Given the description of an element on the screen output the (x, y) to click on. 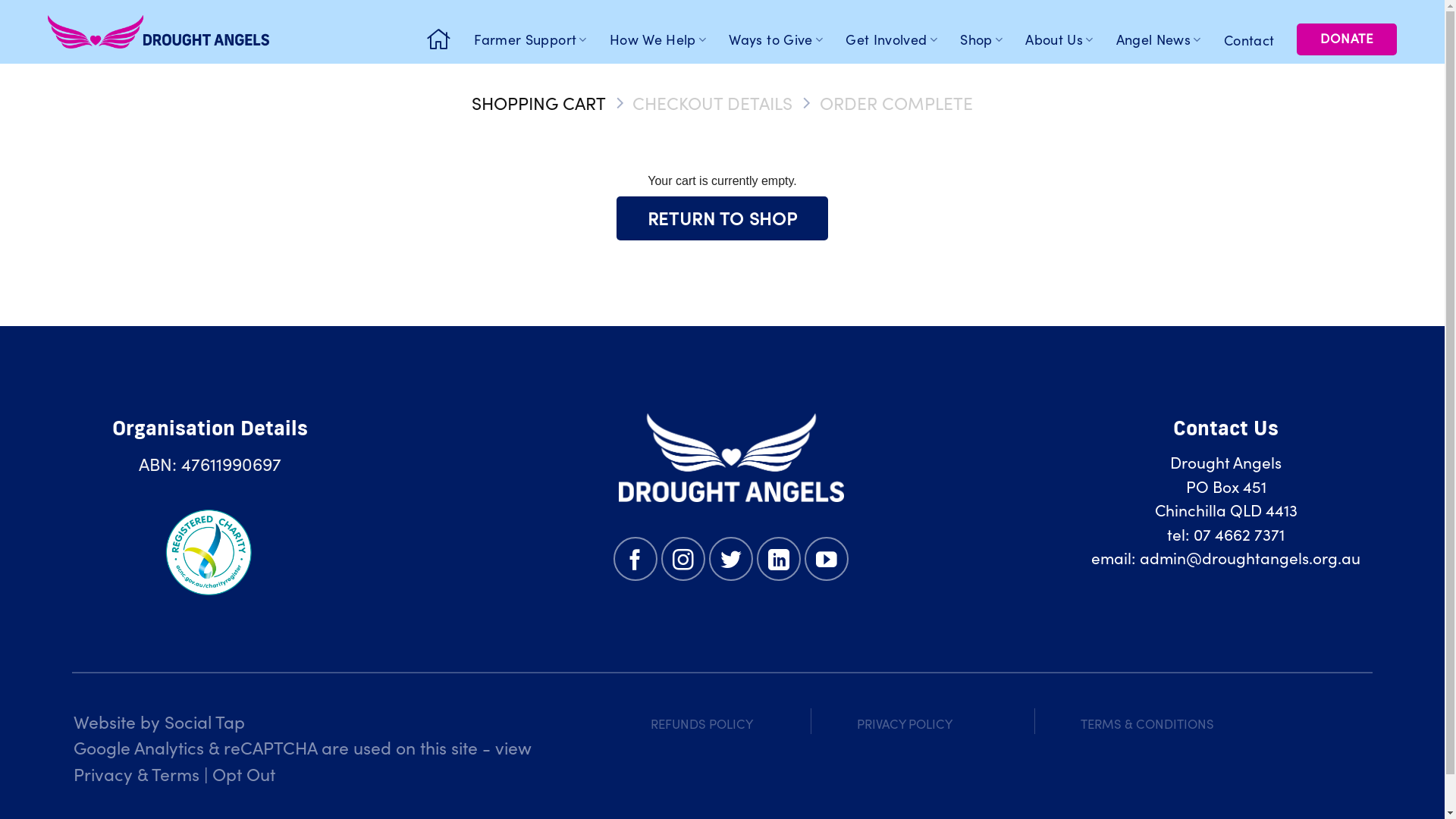
REFUNDS POLICY Element type: text (701, 723)
Follow on LinkedIn Element type: hover (778, 558)
Angel News Element type: text (1164, 39)
Contact Element type: text (1254, 39)
Follow on YouTube Element type: hover (826, 558)
Get Involved Element type: text (897, 39)
Shop Element type: text (987, 39)
Opt Out Element type: text (243, 773)
Follow on Facebook Element type: hover (635, 558)
Privacy & Terms Element type: text (136, 773)
Follow on Twitter Element type: hover (731, 558)
SHOPPING CART Element type: text (538, 102)
07 4662 7371 Element type: text (1238, 533)
Social Tap Element type: text (204, 721)
Skip to content Element type: text (0, 0)
TERMS & CONDITIONS Element type: text (1147, 723)
Drought Angels Element type: hover (158, 31)
admin@droughtangels.org.au Element type: text (1249, 557)
Farmer Support Element type: text (536, 39)
Ways to Give Element type: text (781, 39)
PRIVACY POLICY Element type: text (904, 723)
DONATE Element type: text (1346, 39)
ORDER COMPLETE Element type: text (895, 102)
RETURN TO SHOP Element type: text (722, 218)
CHECKOUT DETAILS Element type: text (712, 102)
How We Help Element type: text (663, 39)
Follow on Instagram Element type: hover (683, 558)
About Us Element type: text (1064, 39)
